Given the description of an element on the screen output the (x, y) to click on. 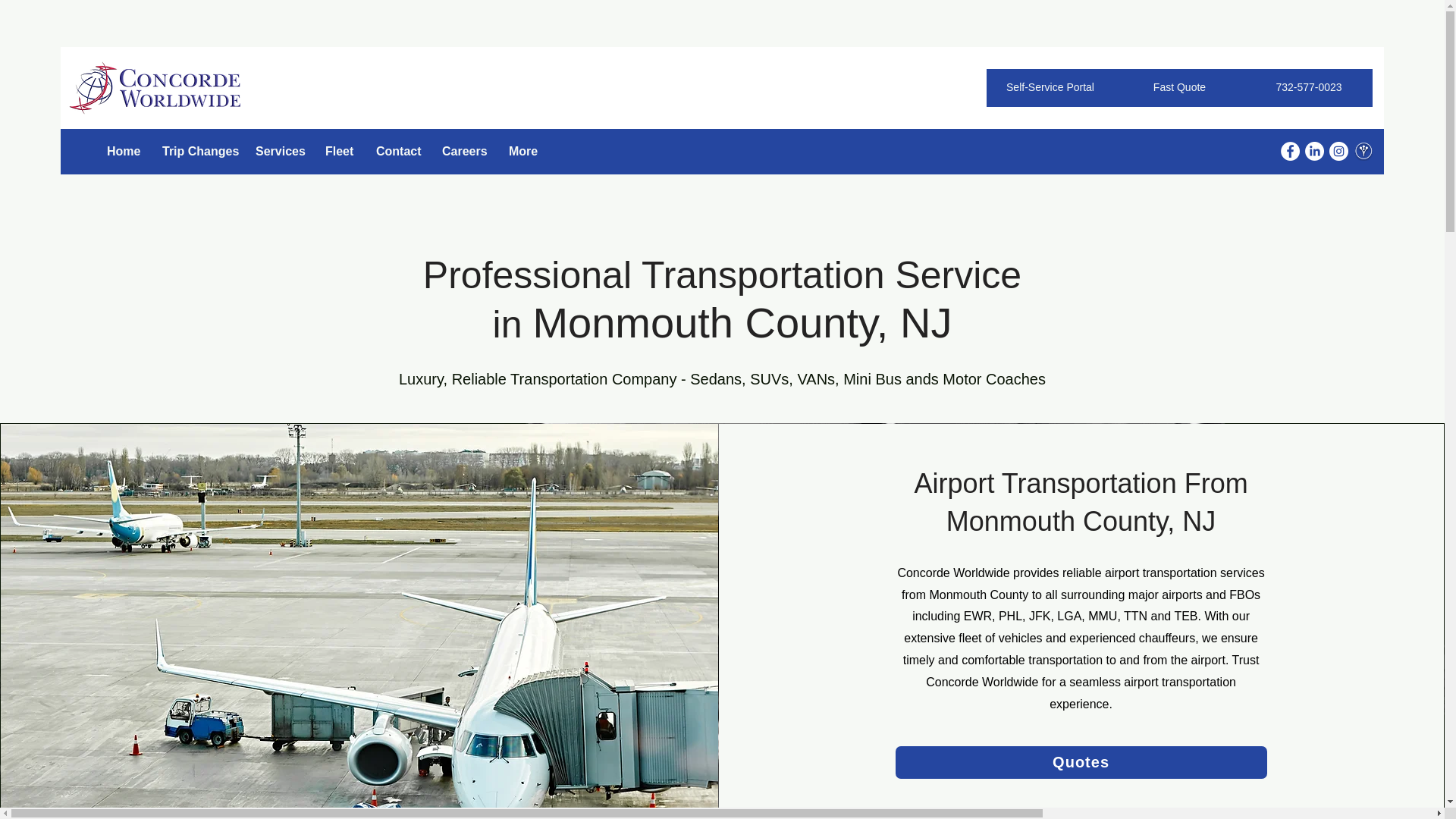
Self-Service Portal (1050, 87)
Contact (397, 151)
Fast Quote (1178, 87)
Home (123, 151)
732-577-0023 (1308, 87)
Trip Changes (197, 151)
Quotes (1080, 762)
Careers (463, 151)
Fleet (339, 151)
